Given the description of an element on the screen output the (x, y) to click on. 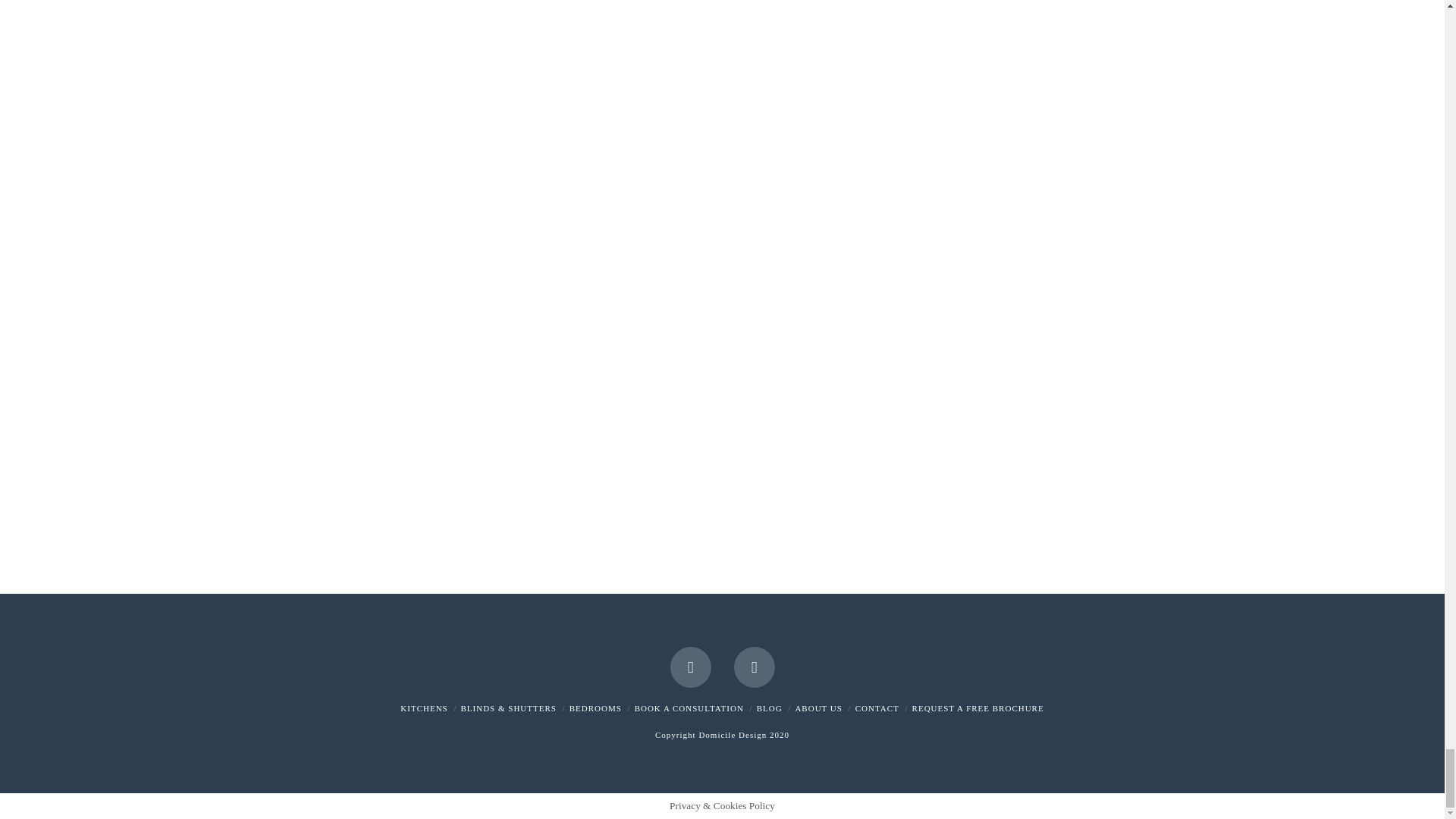
Instagram (753, 667)
Facebook (690, 667)
